Given the description of an element on the screen output the (x, y) to click on. 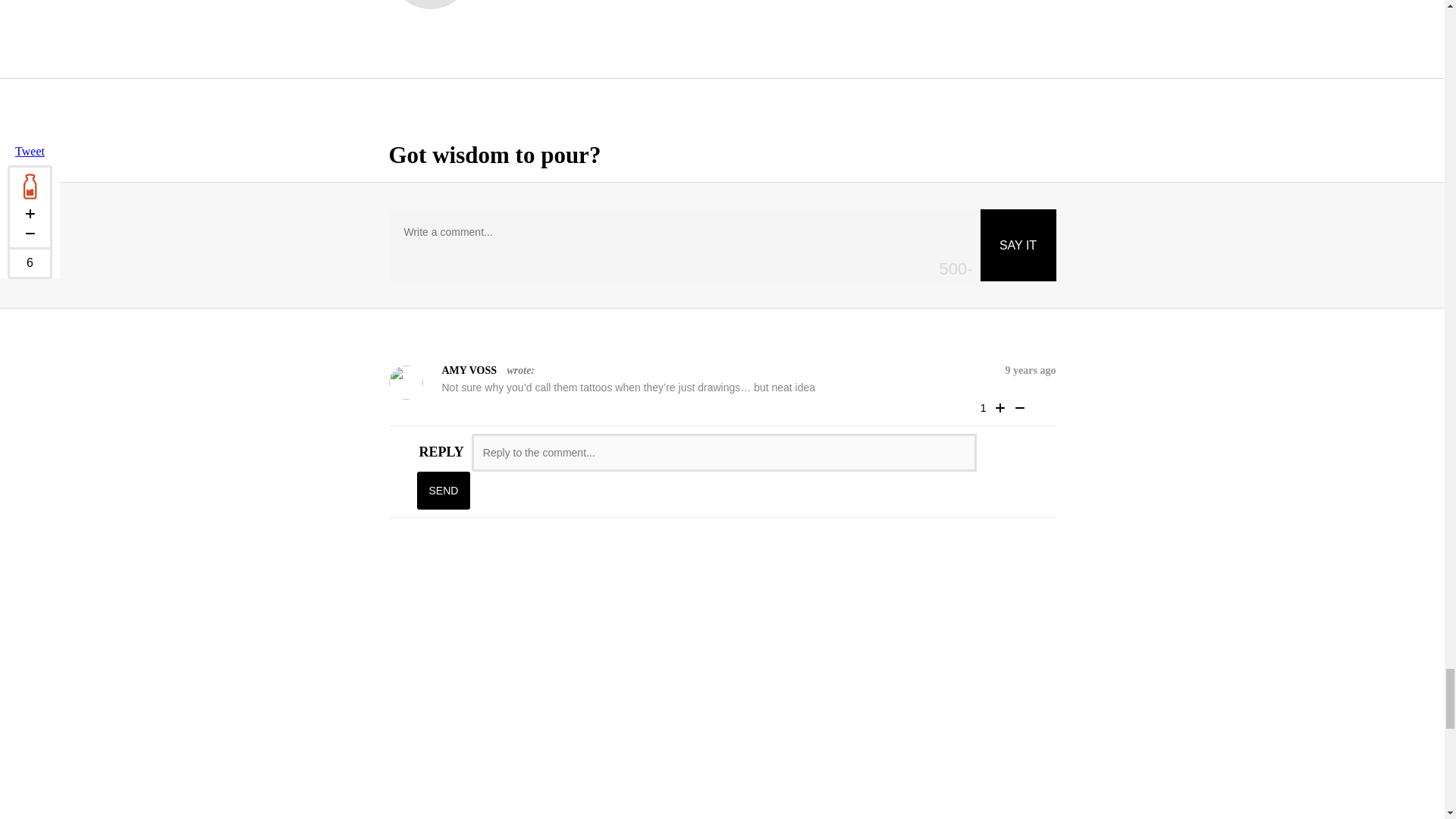
SAY IT (1017, 245)
SEND (443, 490)
